Given the description of an element on the screen output the (x, y) to click on. 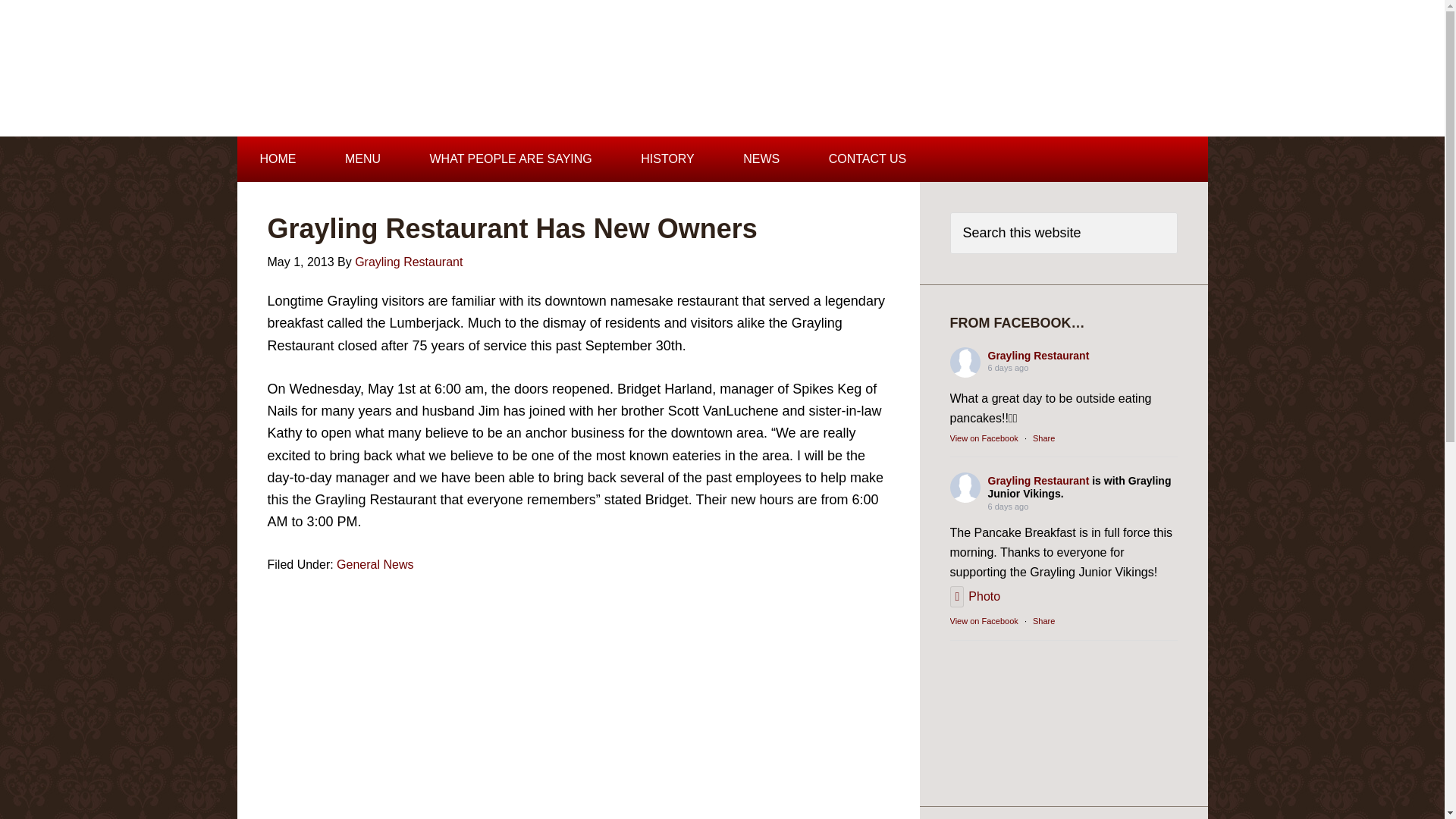
Grayling Restaurant (357, 71)
View on Facebook (983, 438)
Likebox Iframe (1062, 712)
Share (1043, 438)
WHAT PEOPLE ARE SAYING (510, 158)
General News (374, 563)
Share (1043, 620)
Share (1043, 438)
HOME (276, 158)
View on Facebook (983, 620)
MENU (362, 158)
NEWS (761, 158)
CONTACT US (868, 158)
